Given the description of an element on the screen output the (x, y) to click on. 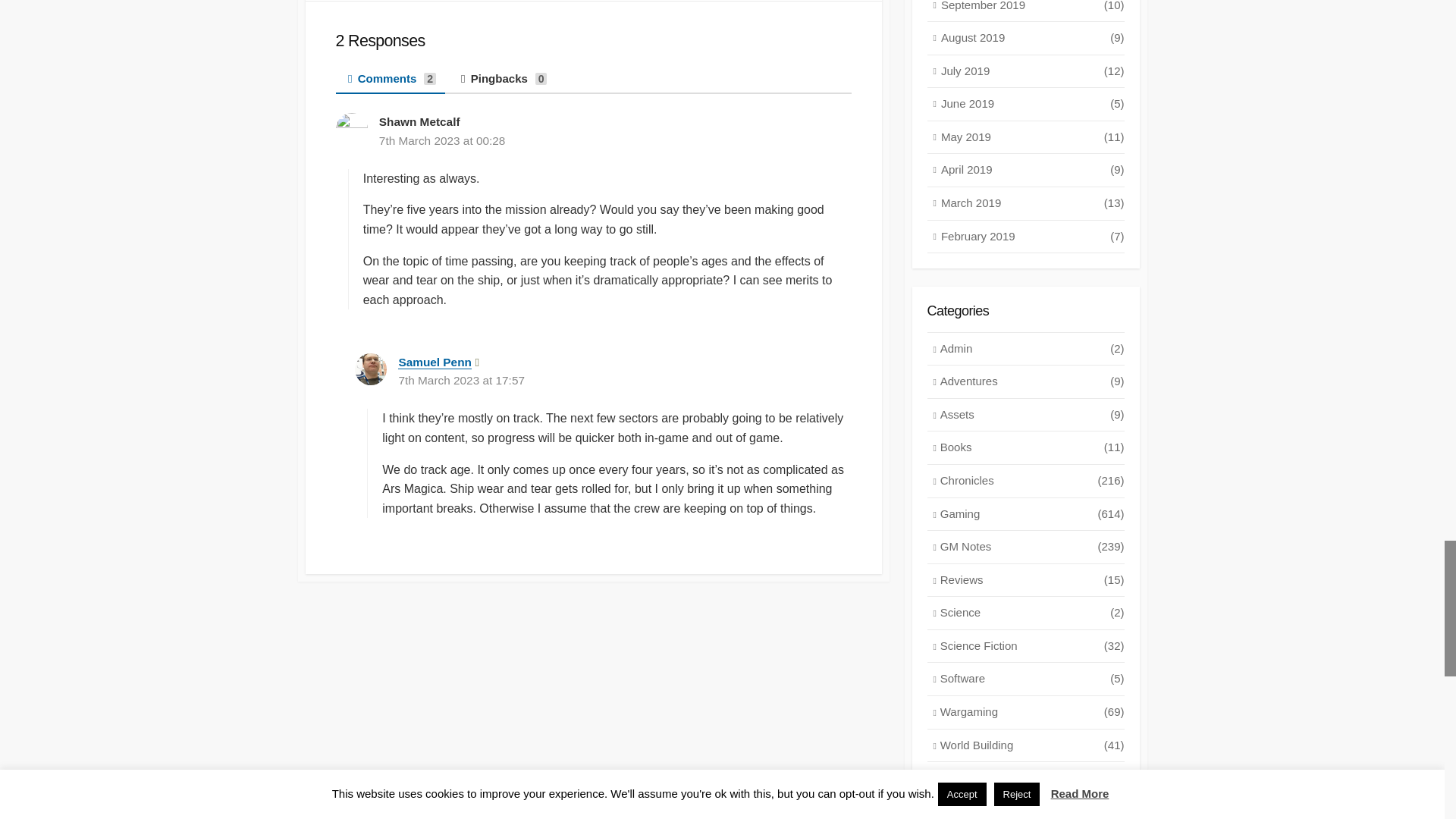
Comments 2 (391, 79)
Pingbacks 0 (504, 79)
Pingbacks 0 (504, 79)
Comments 2 (391, 79)
7th March 2023 at 00:28 (441, 140)
7th March 2023 at 17:57 (460, 379)
Samuel Penn (433, 361)
